Given the description of an element on the screen output the (x, y) to click on. 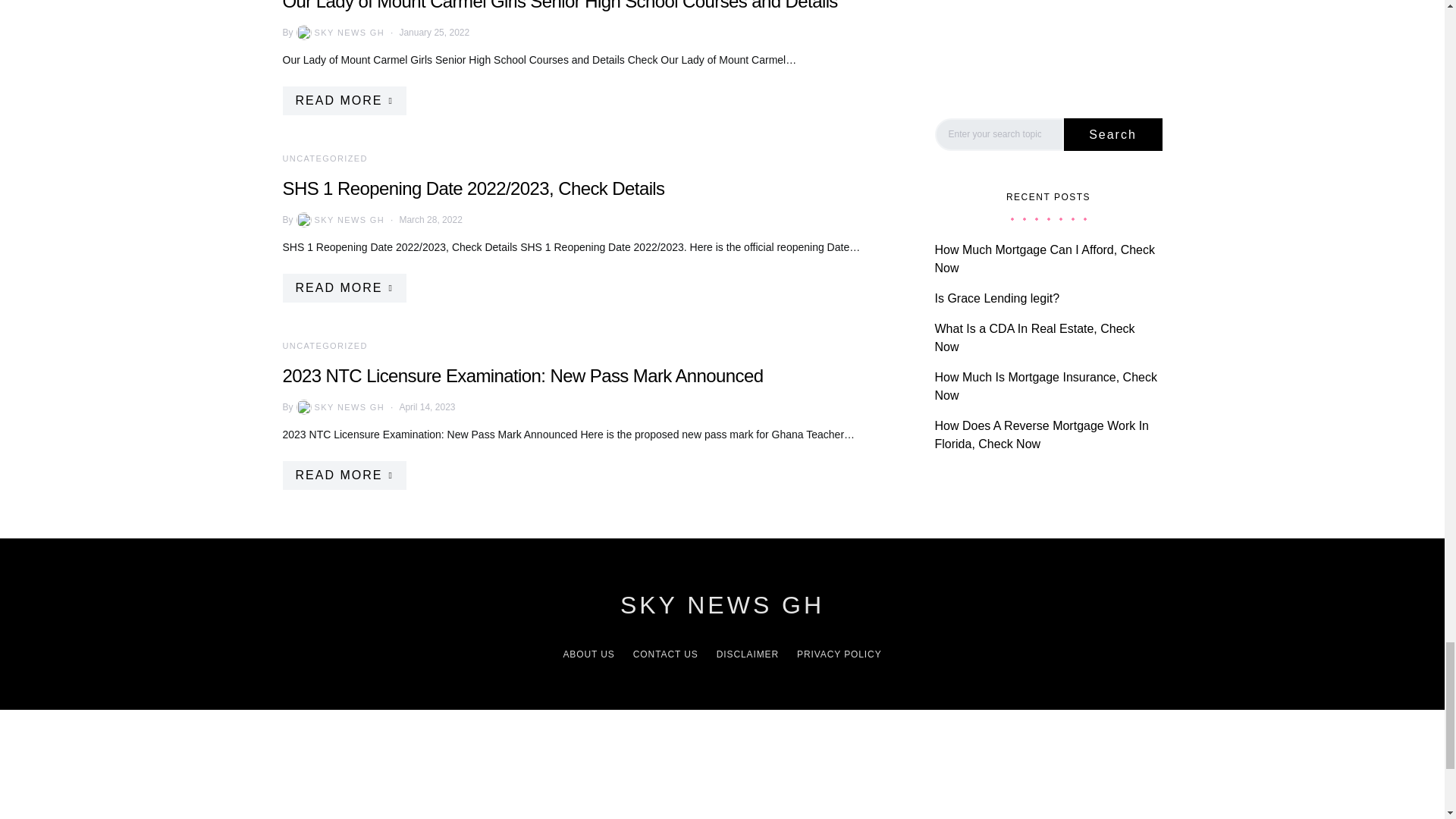
View all posts by Sky News Gh (339, 219)
View all posts by Sky News Gh (339, 32)
View all posts by Sky News Gh (339, 406)
